Given the description of an element on the screen output the (x, y) to click on. 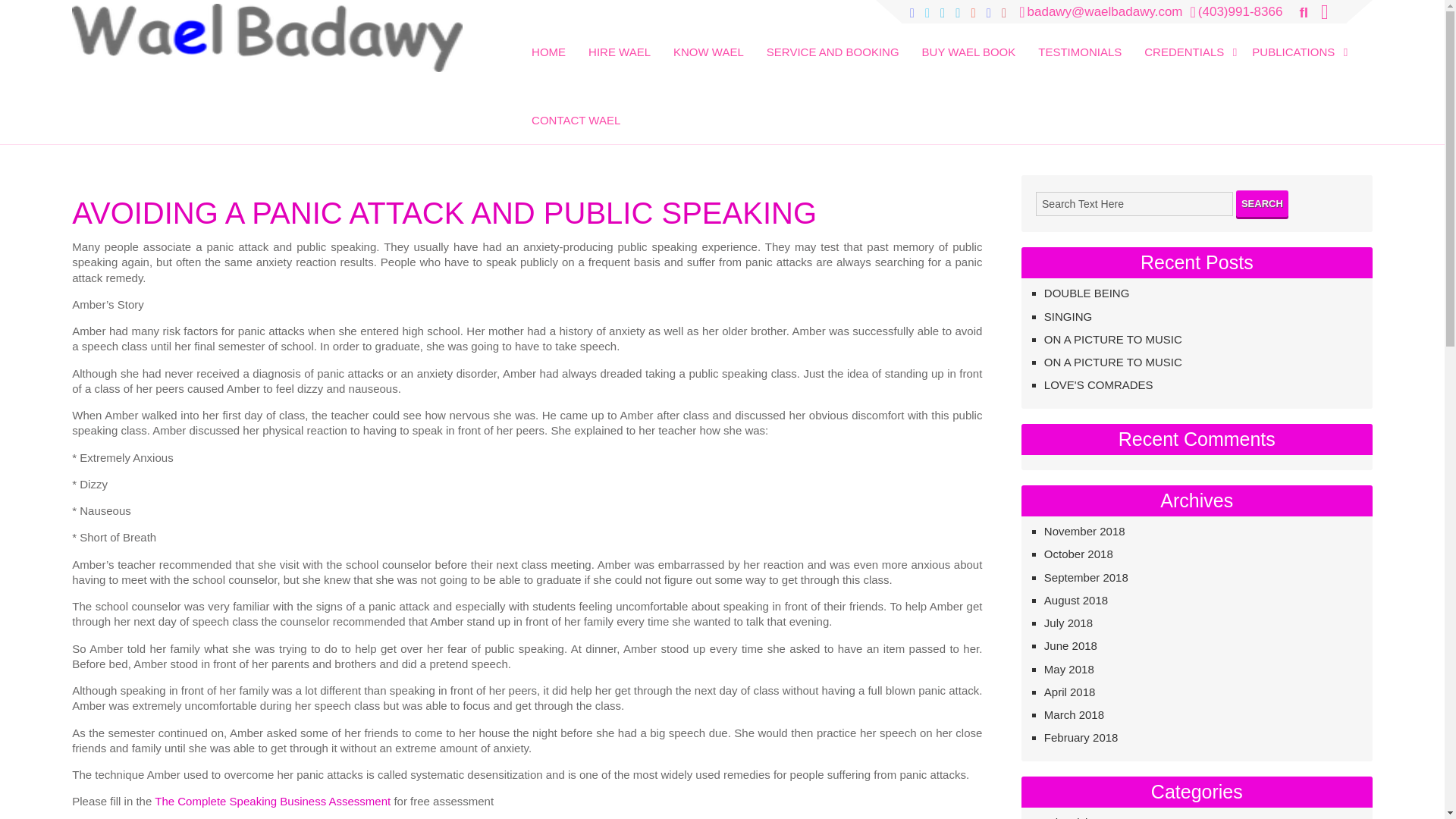
SERVICE AND BOOKING (832, 41)
PUBLICATIONS (1296, 41)
KNOW WAEL (708, 41)
BUY WAEL BOOK (968, 41)
TESTIMONIALS (1079, 41)
CREDENTIALS (1186, 41)
Search (32, 13)
CONTACT WAEL (575, 110)
HIRE WAEL (619, 41)
The Complete Speaking Business Assessment (272, 800)
Search (1262, 203)
